Given the description of an element on the screen output the (x, y) to click on. 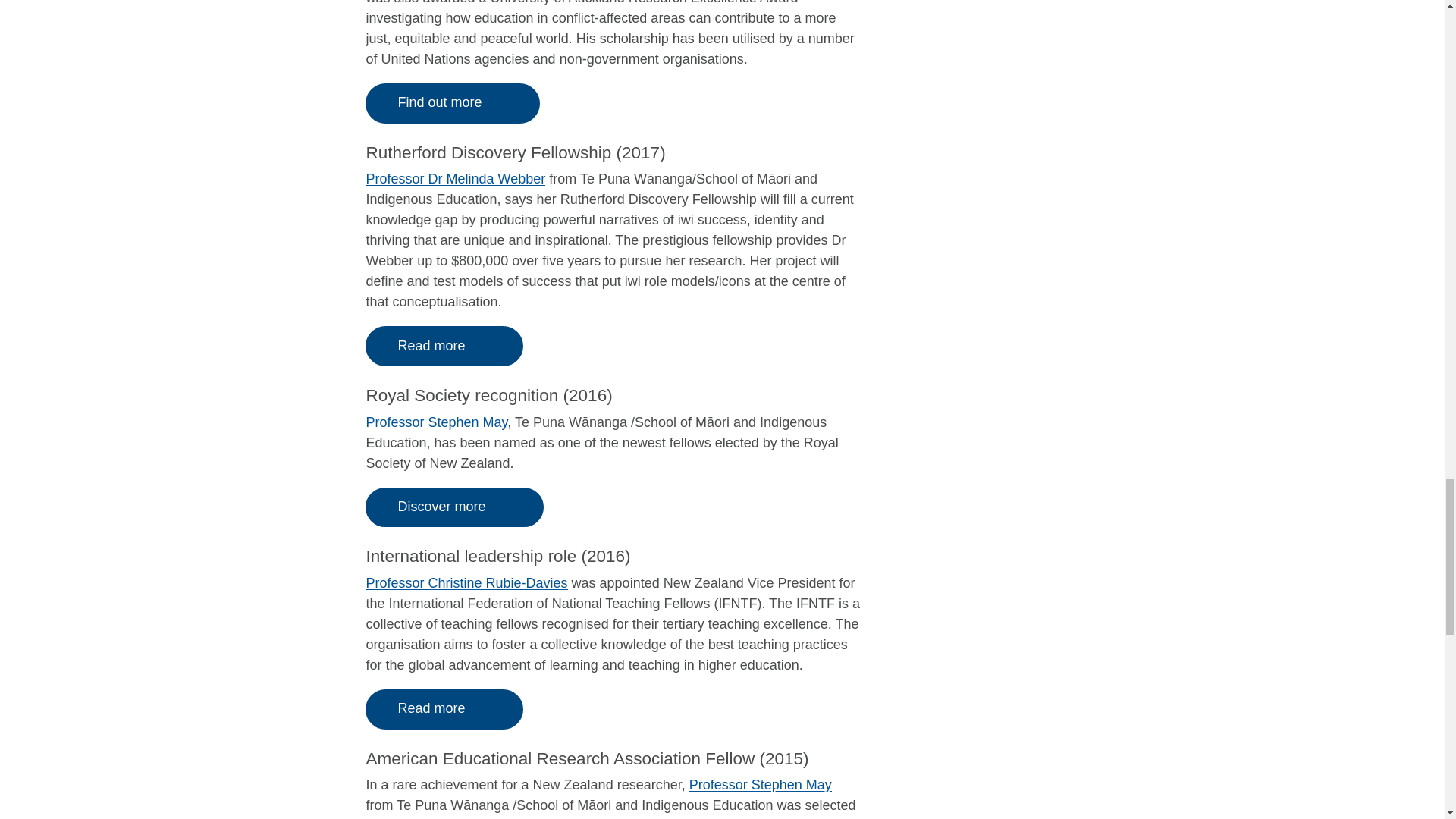
Read more (443, 345)
Find out more (452, 103)
Discover more (454, 507)
Read more (443, 709)
